Given the description of an element on the screen output the (x, y) to click on. 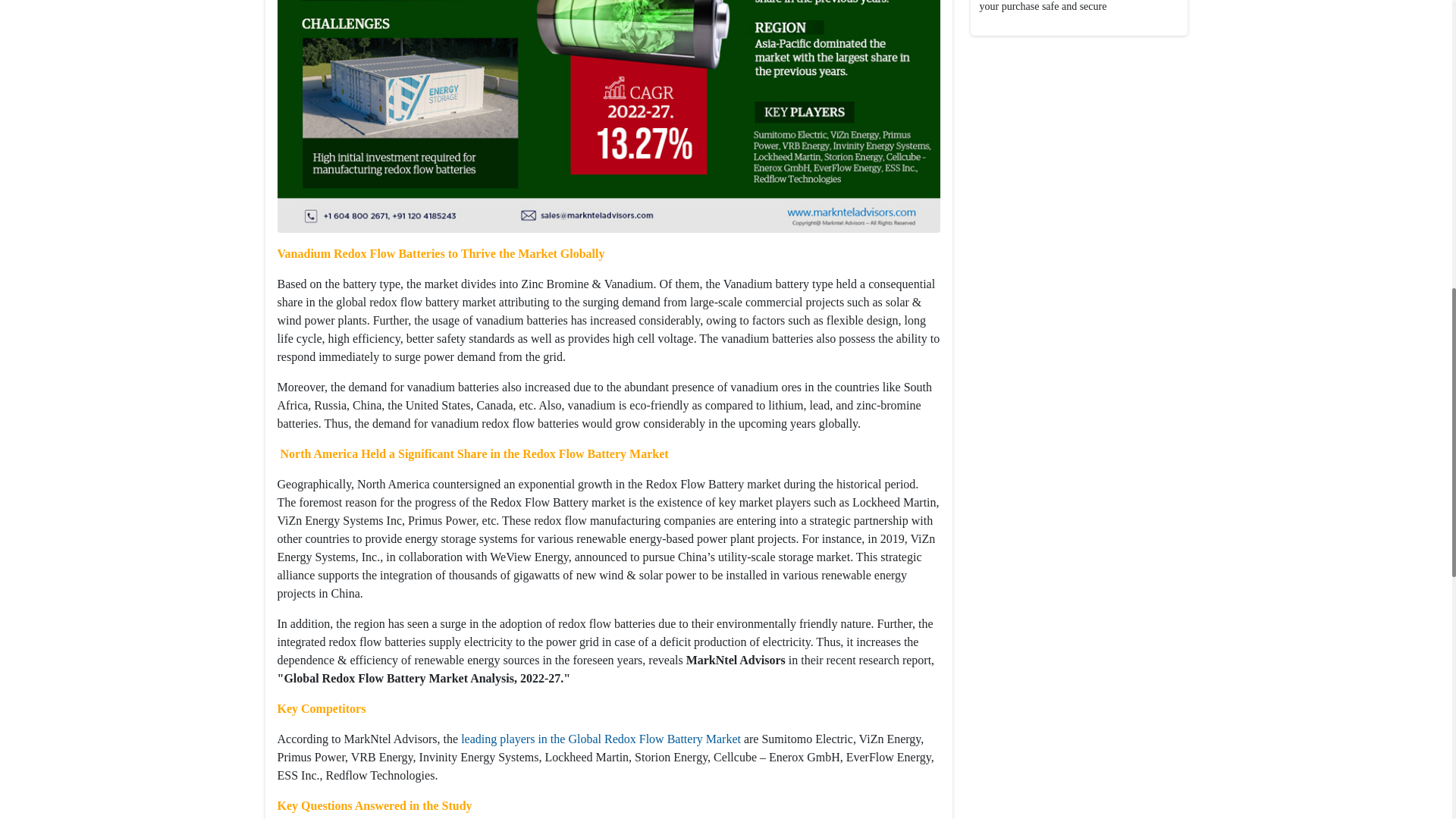
leading players in the Global Redox Flow Battery Market (602, 738)
